Given the description of an element on the screen output the (x, y) to click on. 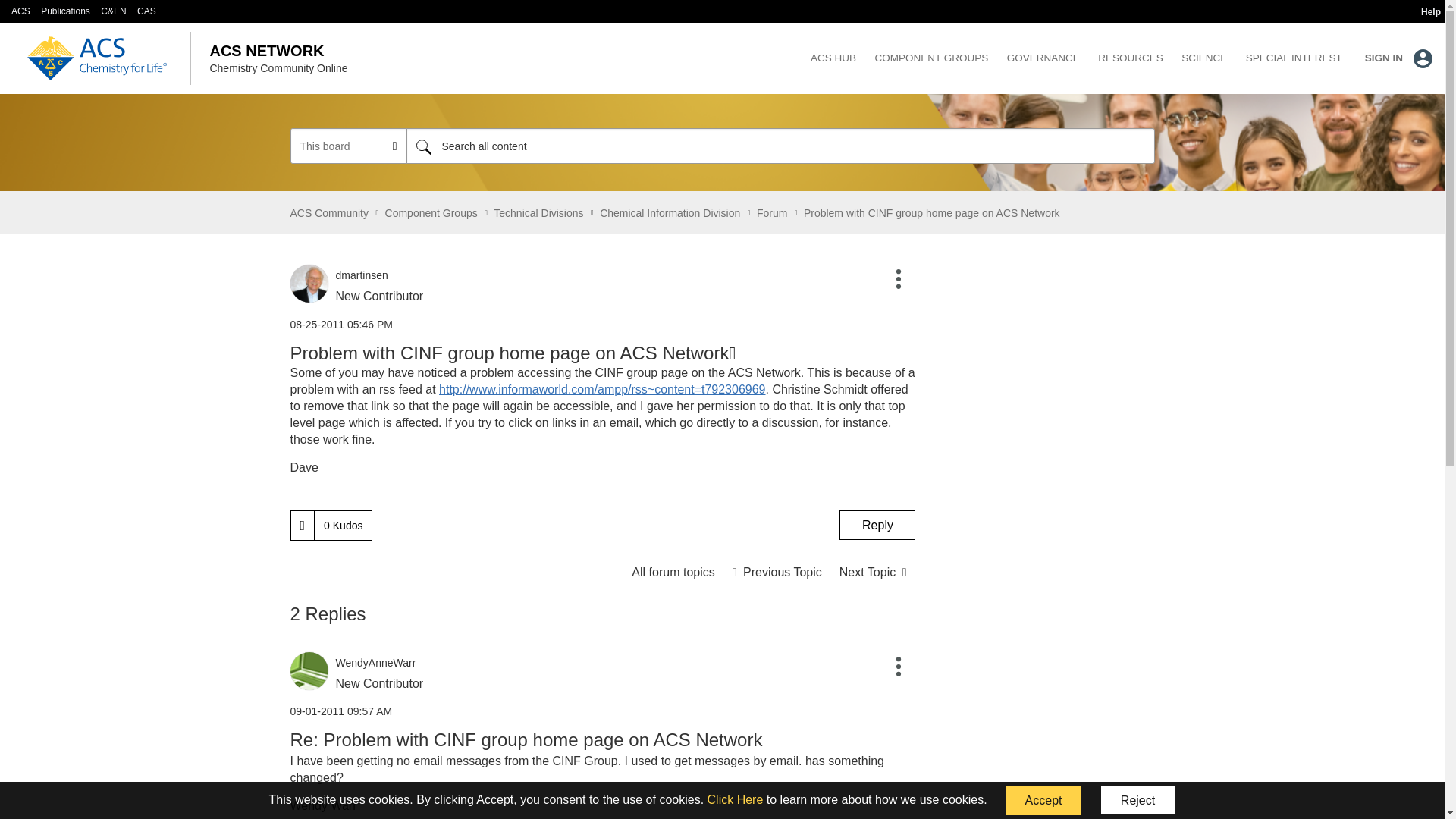
Accept (1043, 800)
GOVERNANCE (1043, 58)
The total number of kudos this post has received. (342, 525)
Publications (65, 10)
Search (423, 146)
ACS (20, 10)
Reject (1138, 800)
Posted on (602, 324)
Show option menu (898, 280)
RESOURCES (1130, 58)
CAS (145, 10)
Click here to give kudos to this post. (302, 525)
SCIENCE (1203, 58)
ACS HUB (833, 58)
COMPONENT GROUPS (931, 58)
